Given the description of an element on the screen output the (x, y) to click on. 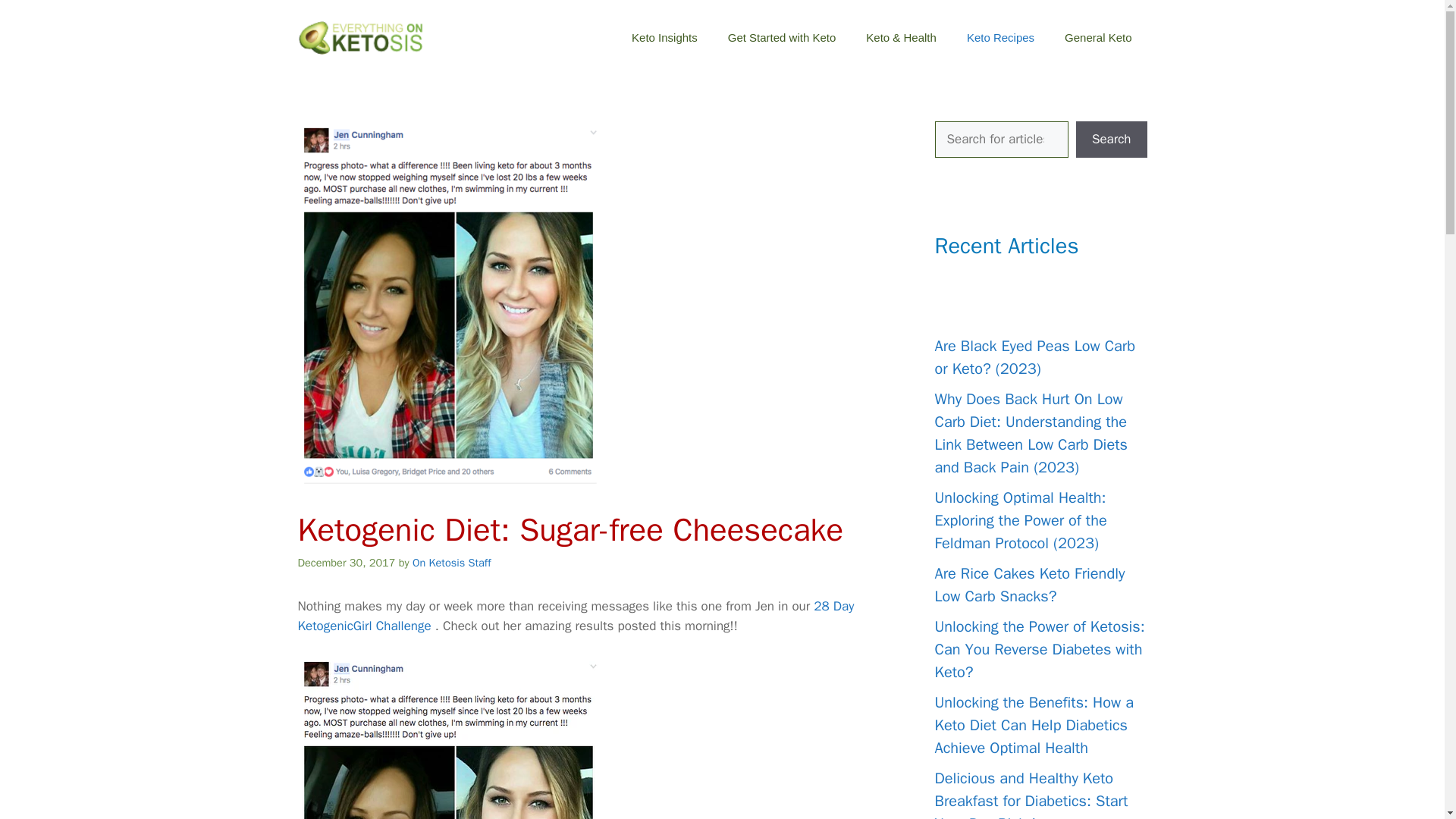
Get Started with Keto (782, 37)
View all posts by On Ketosis Staff (452, 562)
Are Rice Cakes Keto Friendly Low Carb Snacks? (1029, 585)
On Ketosis Staff (452, 562)
General Keto (1098, 37)
Keto Insights (664, 37)
Search (1111, 139)
